Given the description of an element on the screen output the (x, y) to click on. 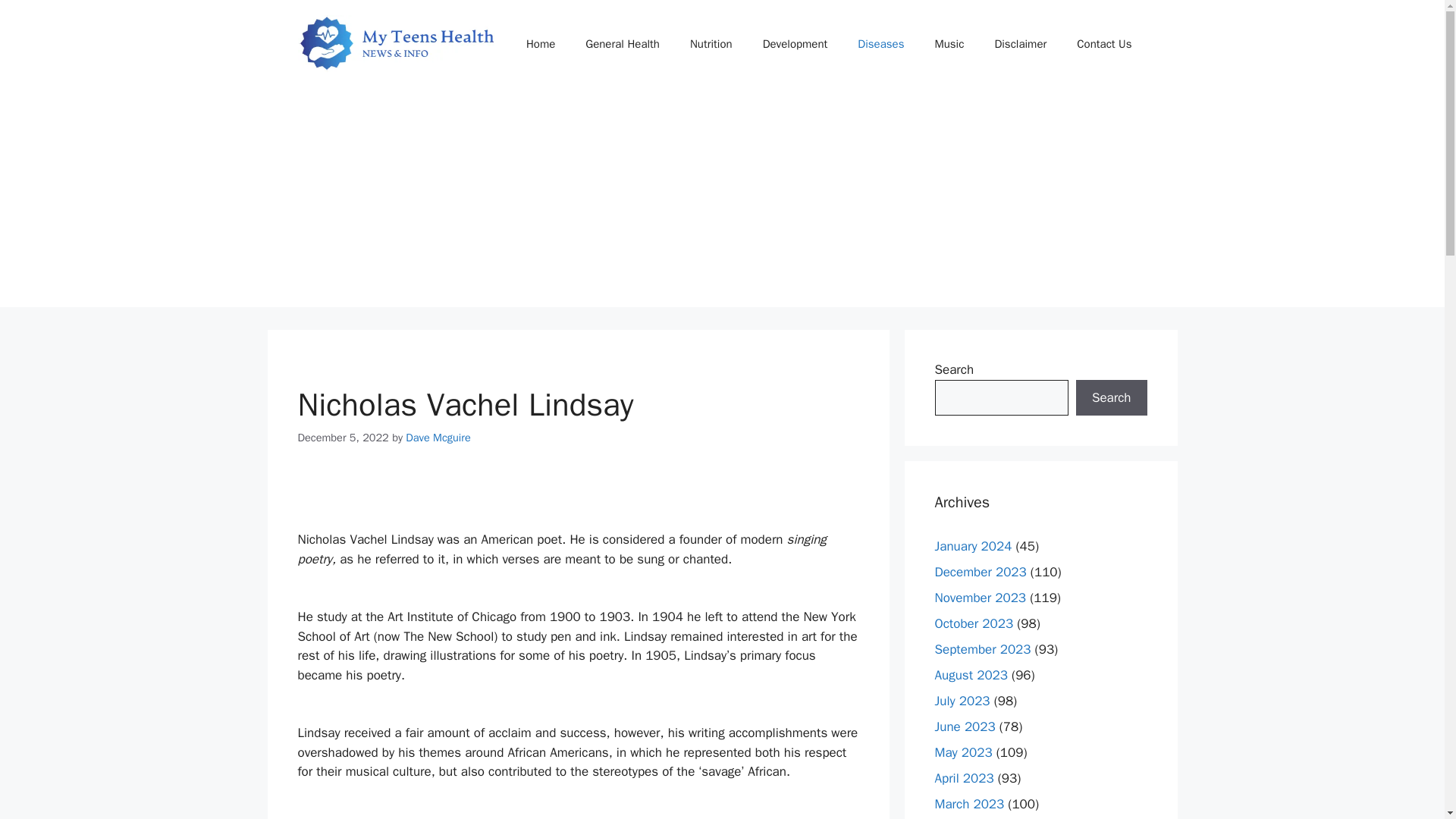
Development (795, 43)
View all posts by Dave Mcguire (438, 437)
September 2023 (982, 649)
Contact Us (1104, 43)
General Health (622, 43)
Dave Mcguire (438, 437)
June 2023 (964, 726)
October 2023 (973, 623)
May 2023 (962, 752)
December 2023 (980, 571)
April 2023 (963, 778)
August 2023 (970, 675)
Music (948, 43)
Home (540, 43)
